Given the description of an element on the screen output the (x, y) to click on. 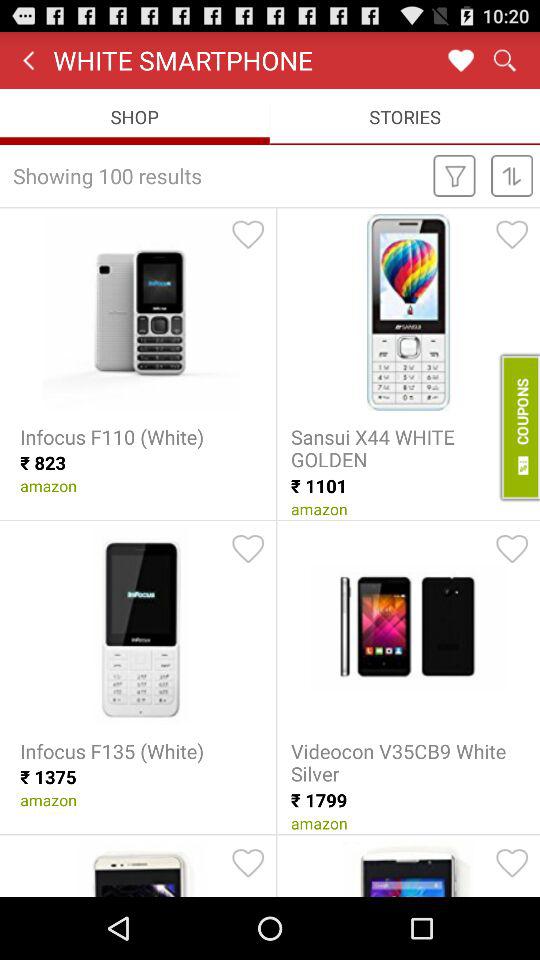
select filter (454, 175)
